Given the description of an element on the screen output the (x, y) to click on. 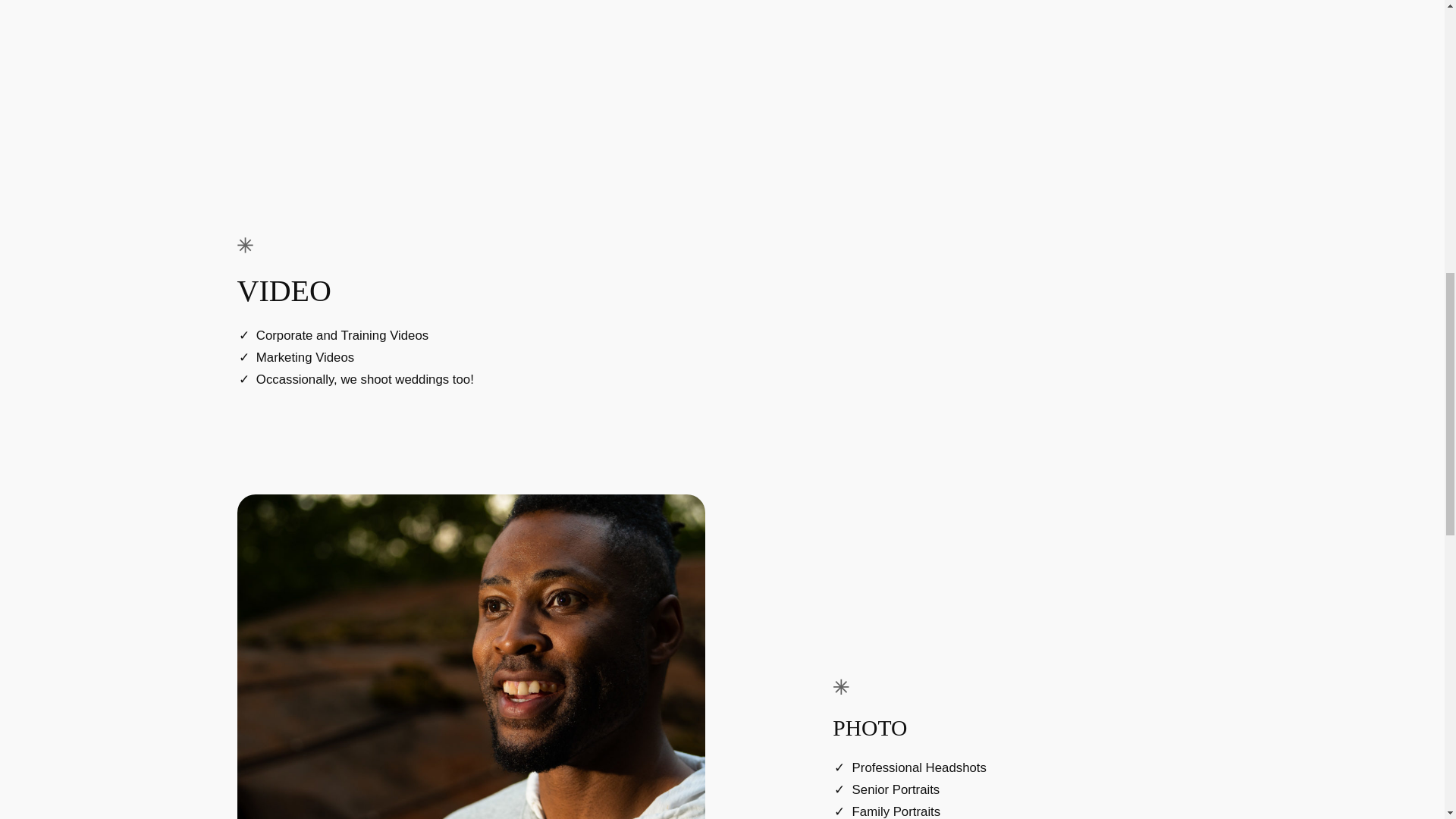
Reel 2022 (973, 313)
